Given the description of an element on the screen output the (x, y) to click on. 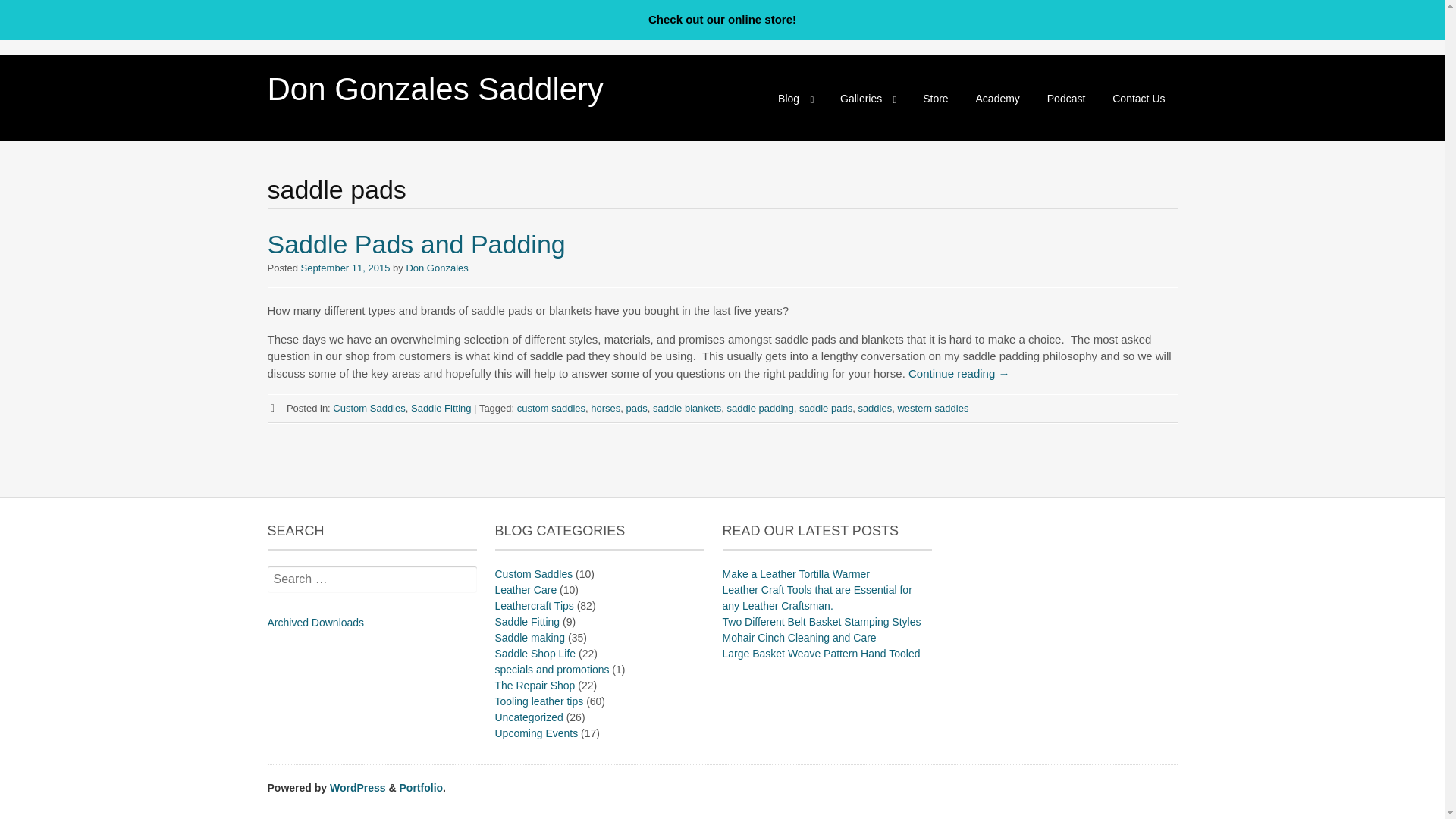
View all posts by Don Gonzales (436, 267)
Check out our online store! (721, 20)
saddles (874, 408)
Blog (795, 97)
Galleries (867, 97)
Don Gonzales (436, 267)
Custom Saddles (368, 408)
Leather Care (525, 589)
horses (605, 408)
Podcast (1066, 97)
Search (33, 12)
western saddles (932, 408)
saddle padding (759, 408)
Academy (997, 97)
Leathercraft Tips (534, 605)
